Given the description of an element on the screen output the (x, y) to click on. 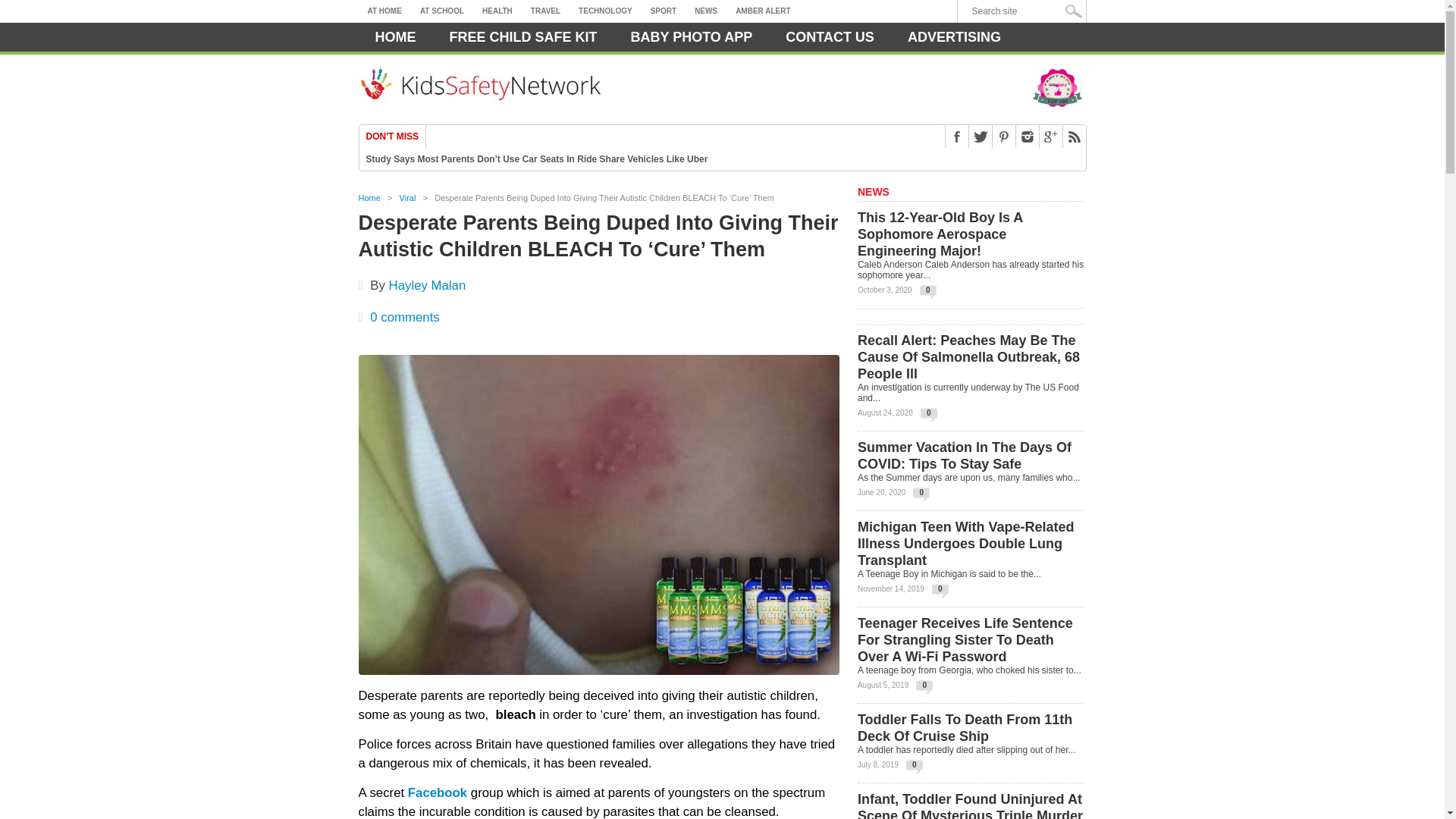
TRAVEL (545, 11)
AT HOME (384, 11)
SPORT (663, 11)
AMBER ALERT (762, 11)
AT SCHOOL (441, 11)
NEWS (705, 11)
Home (395, 36)
TECHNOLOGY (605, 11)
Posts by Hayley Malan (426, 285)
Search site (1024, 11)
